Given the description of an element on the screen output the (x, y) to click on. 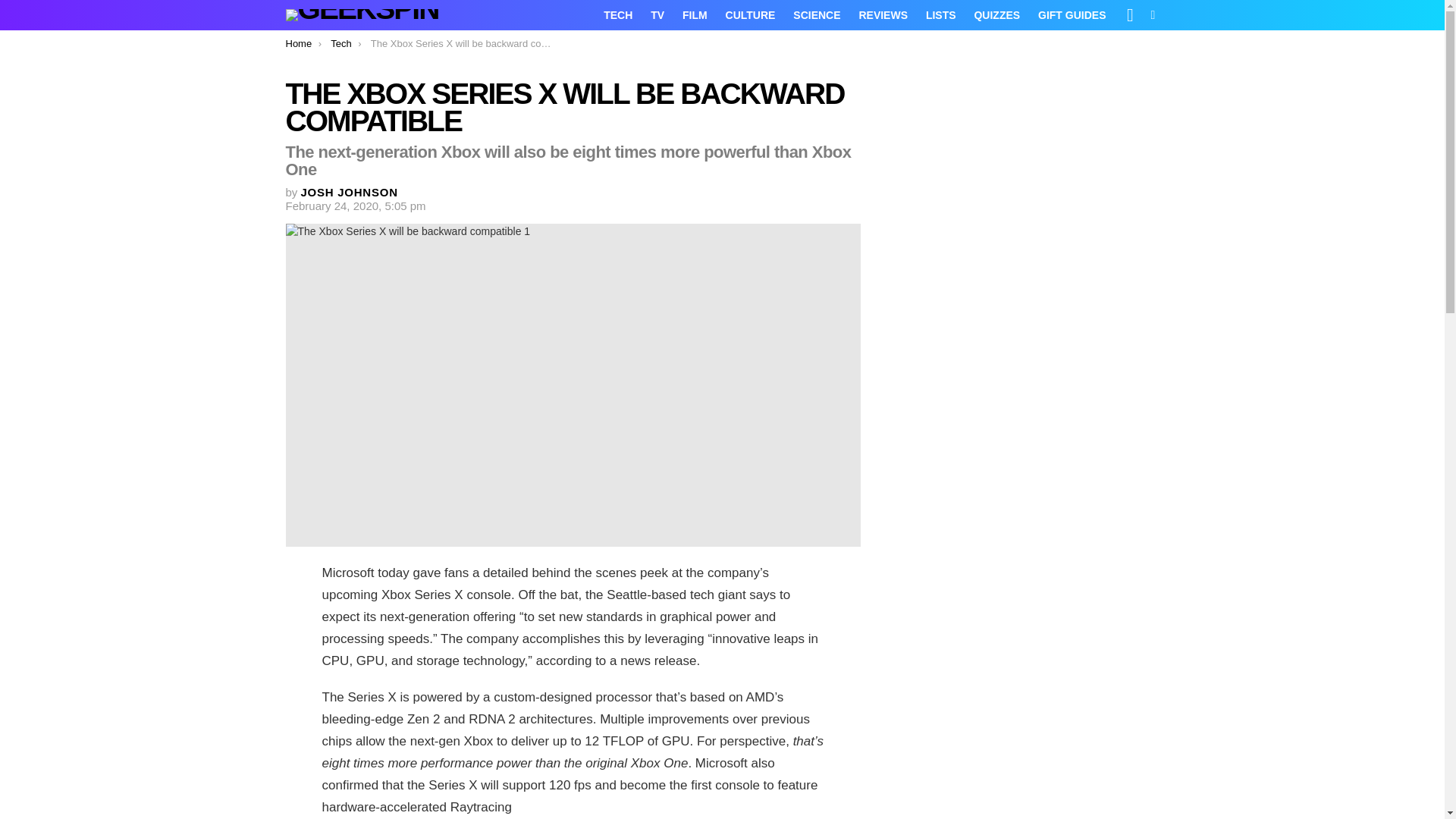
TV (657, 15)
JOSH JOHNSON (349, 192)
Home (298, 43)
CULTURE (750, 15)
Tech (340, 43)
GIFT GUIDES (1071, 15)
FILM (694, 15)
QUIZZES (996, 15)
SCIENCE (816, 15)
